Given the description of an element on the screen output the (x, y) to click on. 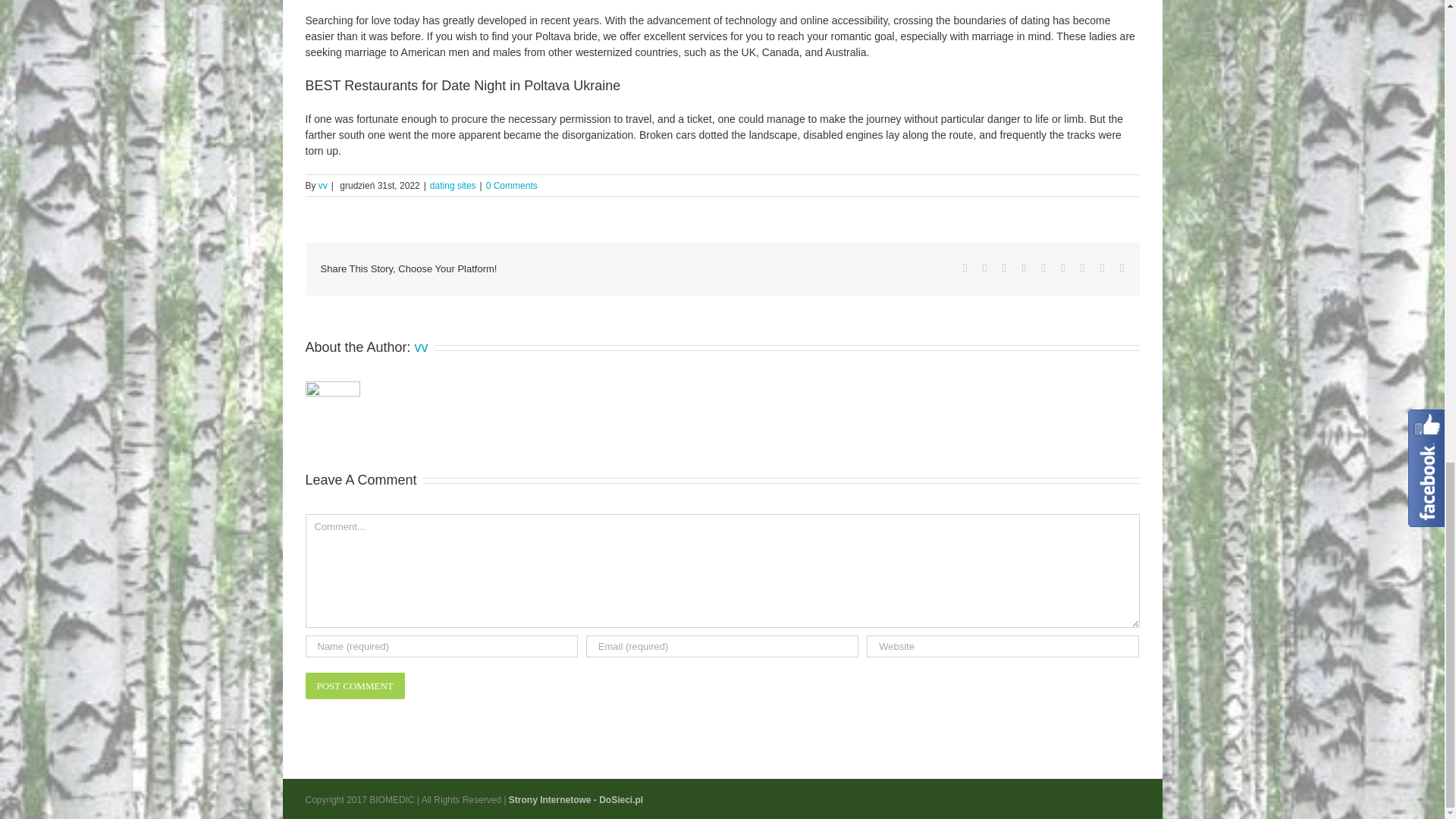
Wpisy od vv (421, 346)
Post Comment (354, 686)
